Given the description of an element on the screen output the (x, y) to click on. 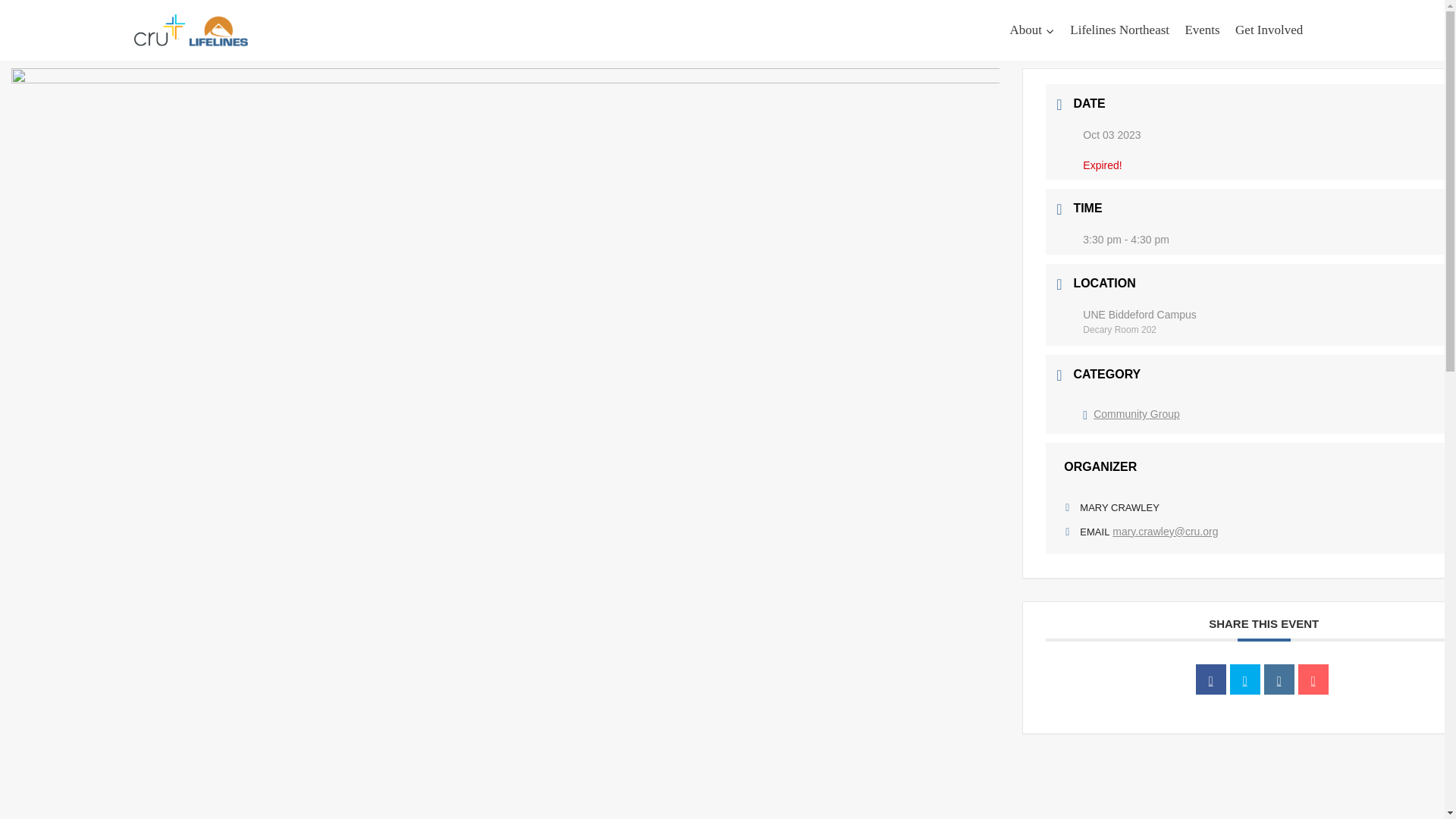
Email (1312, 679)
Lifelines Northeast (1119, 30)
Get Involved (1269, 30)
Linkedin (1278, 679)
Tweet (1245, 679)
Events (1201, 30)
About (1031, 30)
Share on Facebook (1210, 679)
Community Group (1131, 413)
